Given the description of an element on the screen output the (x, y) to click on. 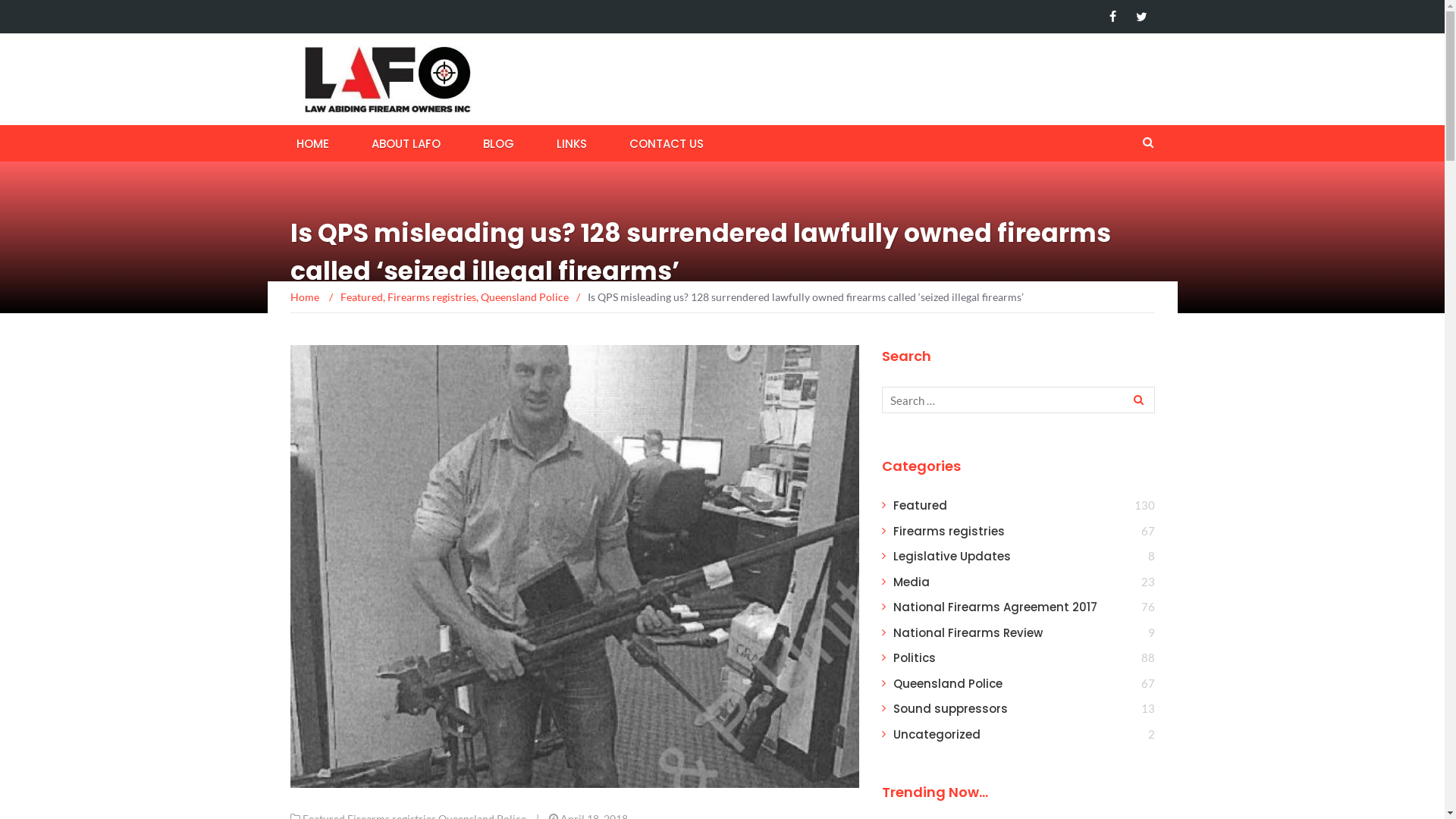
Featured Element type: text (360, 296)
Queensland Police Element type: text (524, 296)
National Firearms Review Element type: text (967, 632)
HOME Element type: text (311, 142)
Uncategorized Element type: text (936, 734)
Queensland Police Element type: text (947, 683)
National Firearms Agreement 2017 Element type: text (995, 607)
Politics Element type: text (914, 657)
ABOUT LAFO Element type: text (405, 142)
Firearms registries Element type: text (948, 531)
CONTACT US Element type: text (666, 142)
BLOG Element type: text (497, 142)
Media Element type: text (911, 581)
LINKS Element type: text (571, 142)
Featured Element type: text (920, 505)
Search Element type: text (1136, 399)
Legislative Updates Element type: text (951, 556)
Firearms registries Element type: text (430, 296)
Sound suppressors Element type: text (950, 708)
Home Element type: text (304, 296)
